Given the description of an element on the screen output the (x, y) to click on. 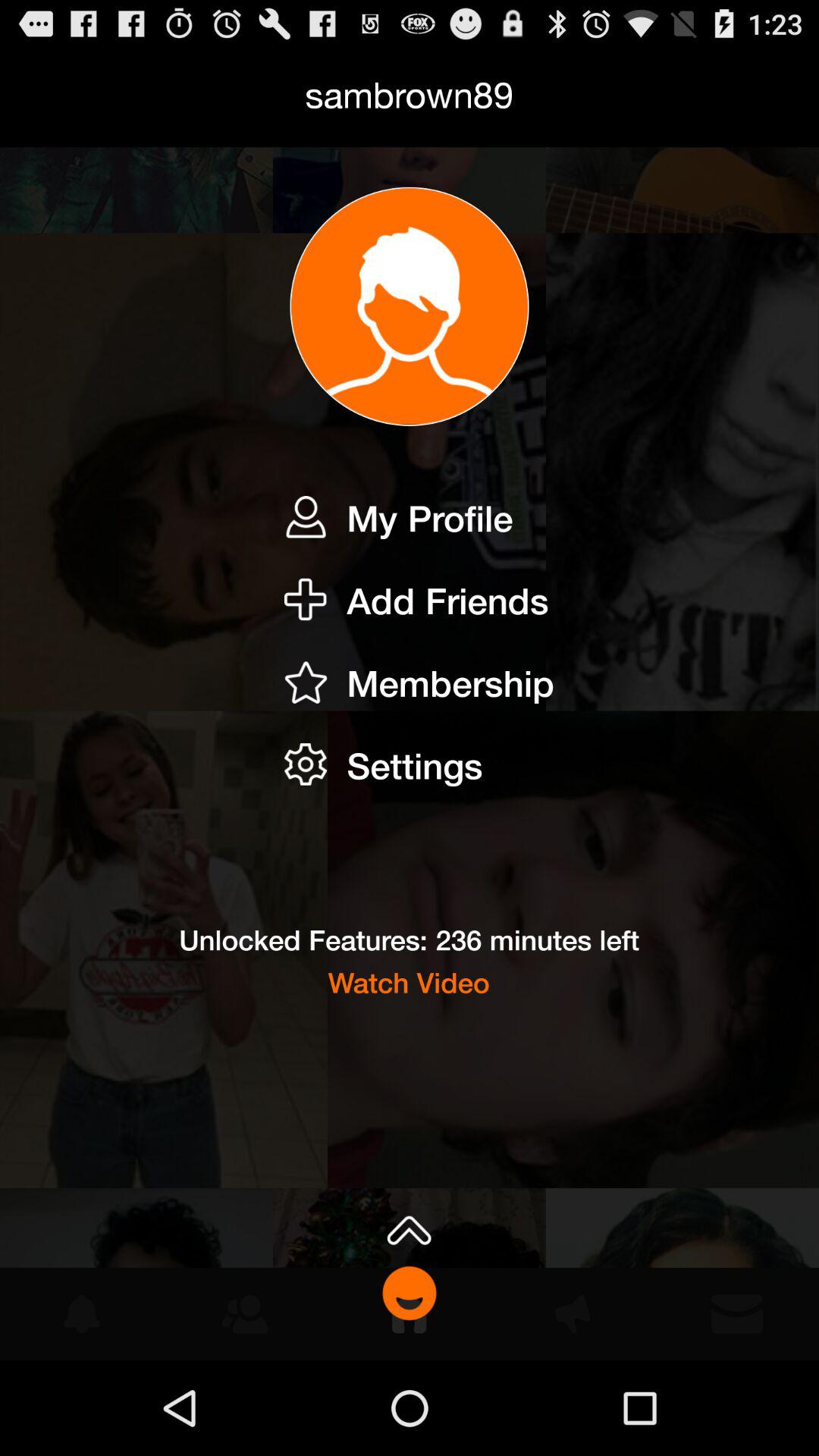
set your profile photo (409, 306)
